Given the description of an element on the screen output the (x, y) to click on. 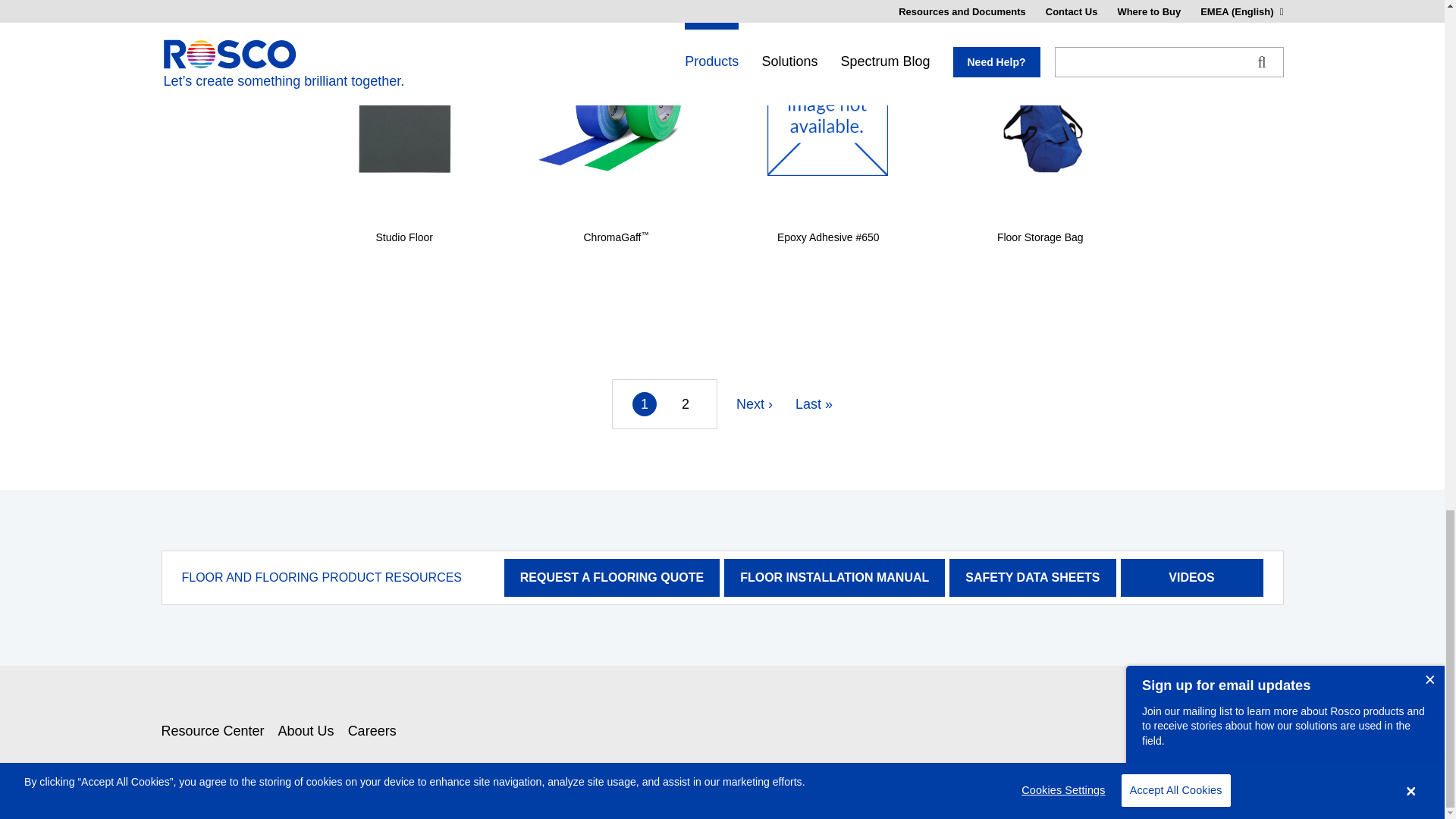
Current page (643, 404)
Go to last page (813, 403)
Go to page 2 (684, 404)
Go to next page (754, 403)
